Given the description of an element on the screen output the (x, y) to click on. 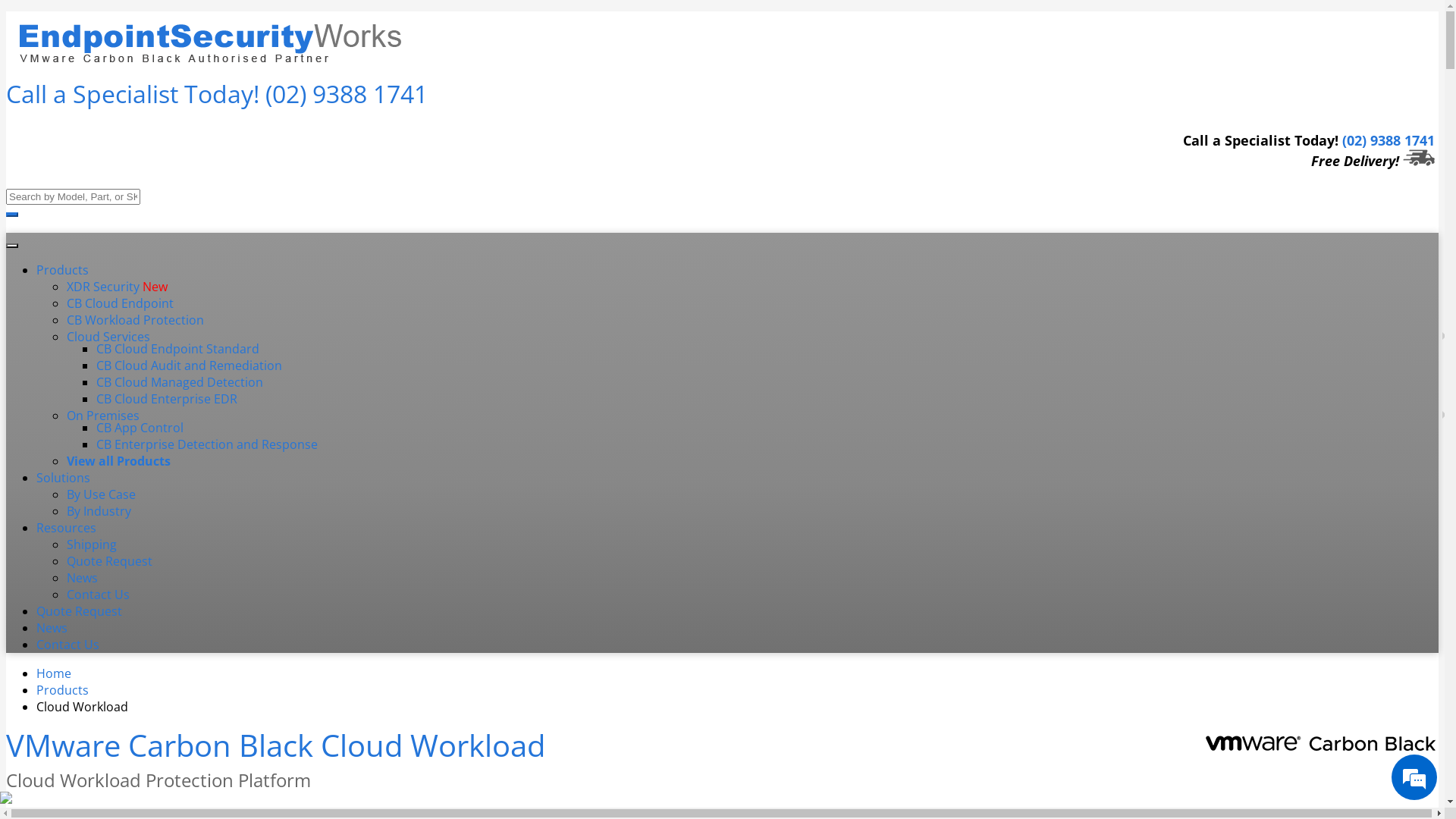
News Element type: text (51, 627)
View all Products Element type: text (118, 460)
Shipping Element type: text (91, 544)
Home Element type: text (53, 673)
CB Cloud Enterprise EDR Element type: text (166, 398)
Quote Request Element type: text (79, 610)
By Industry Element type: text (98, 510)
CB Cloud Managed Detection Element type: text (179, 381)
News Element type: text (81, 577)
On Premises Element type: text (102, 415)
XDR Security New Element type: text (116, 286)
Contact Us Element type: text (67, 644)
(02) 9388 1741 Element type: text (1388, 140)
Solutions Element type: text (63, 477)
By Use Case Element type: text (100, 494)
CB Cloud Endpoint Standard Element type: text (177, 348)
CB Workload Protection Element type: text (134, 319)
Quote Request Element type: text (109, 560)
Cloud Services Element type: text (108, 336)
CB Enterprise Detection and Response Element type: text (206, 444)
CB Cloud Endpoint Element type: text (119, 302)
(02) 9388 1741 Element type: text (346, 93)
CB App Control Element type: text (139, 427)
CB Cloud Audit and Remediation Element type: text (189, 365)
Resources Element type: text (66, 527)
Products Element type: text (62, 269)
Products Element type: text (62, 689)
Contact Us Element type: text (97, 594)
